Given the description of an element on the screen output the (x, y) to click on. 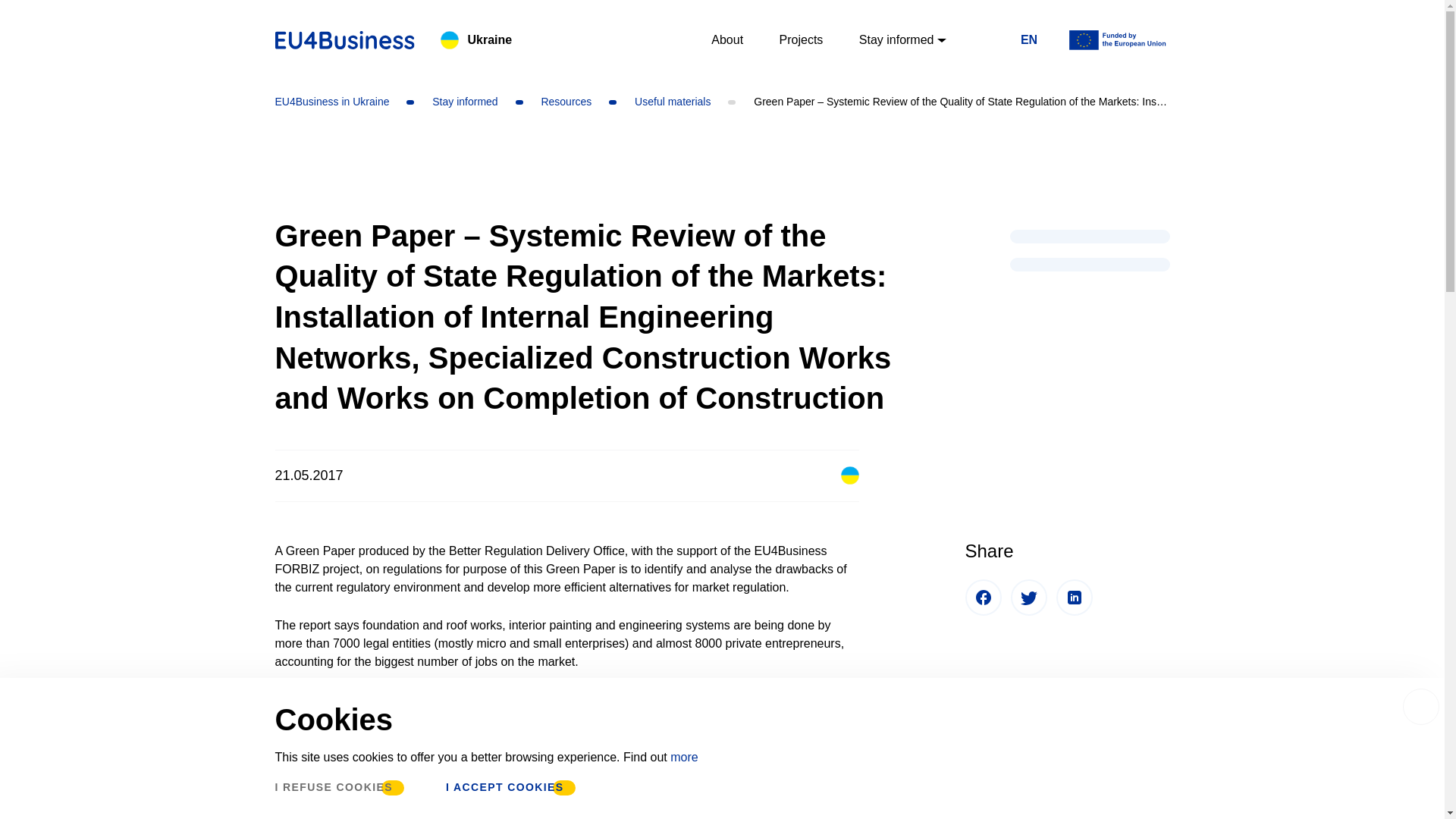
About (726, 39)
Resources (553, 101)
Stay informed (451, 101)
Useful materials (659, 101)
EU4Business in Ukraine (333, 101)
Projects (801, 39)
Better Regulation Delivery Office (387, 792)
FORBIZ (639, 810)
Up (1406, 796)
